Given the description of an element on the screen output the (x, y) to click on. 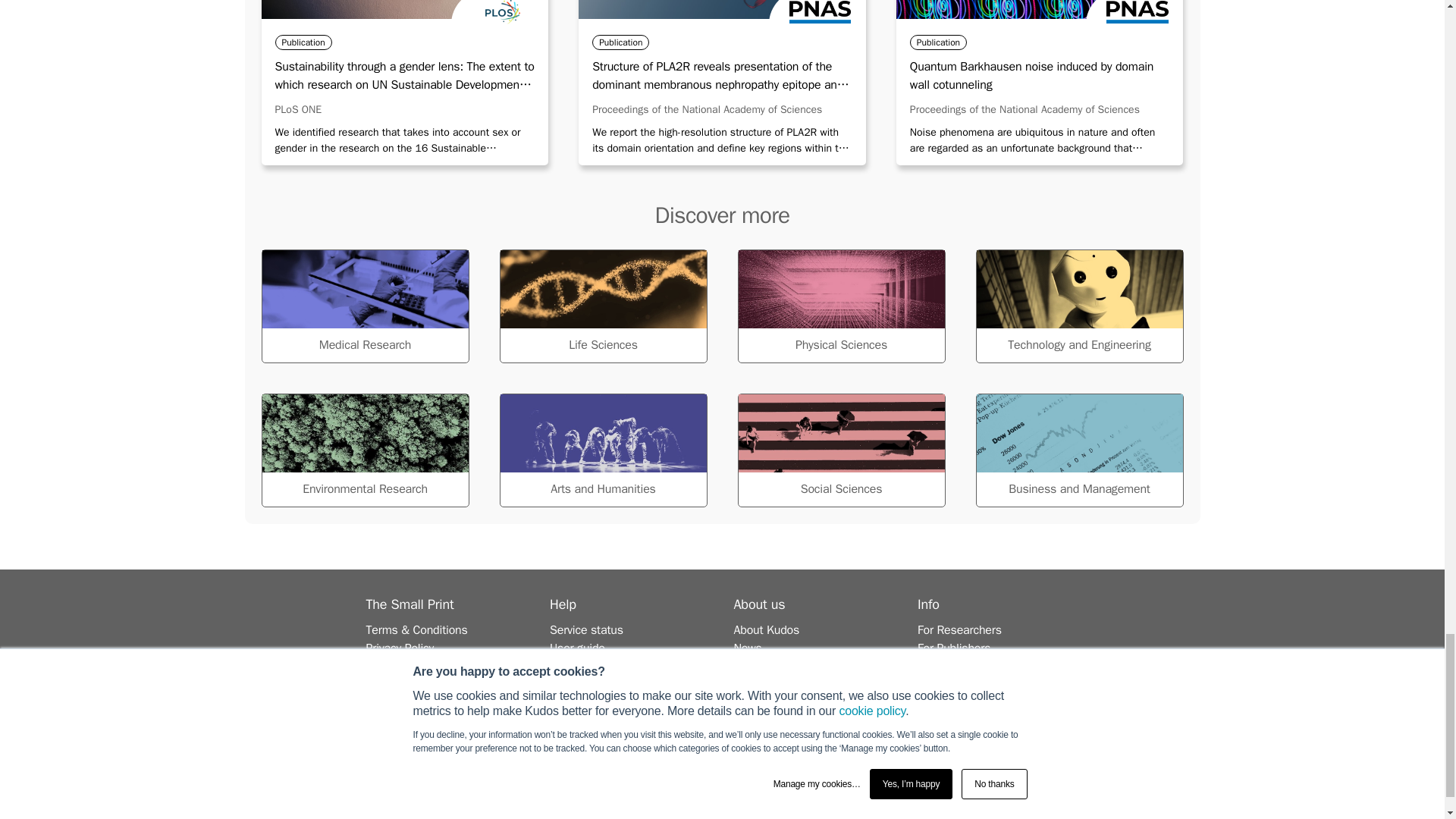
Physical Sciences (840, 306)
Medical Research (364, 306)
Technology and Engineering (1078, 306)
Proceedings of the National Academy of Sciences (1025, 109)
Social Sciences (840, 449)
Arts and Humanities (602, 449)
Environmental Research (364, 449)
Proceedings of the National Academy of Sciences (707, 109)
Business and Management (1078, 449)
Privacy Policy (399, 648)
Logo Usage (395, 666)
